Given the description of an element on the screen output the (x, y) to click on. 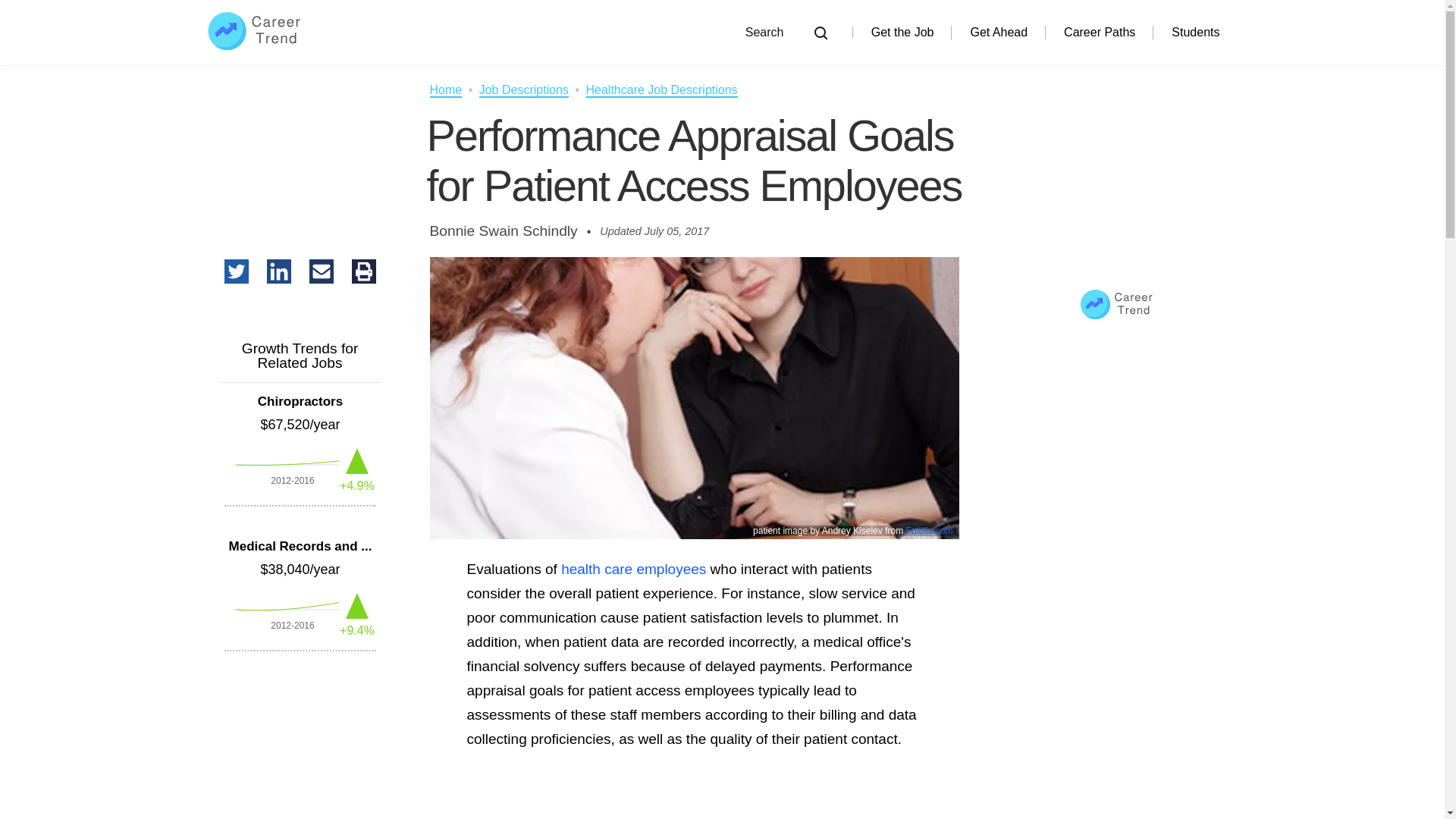
Get the Job (902, 31)
Career Paths (1099, 31)
Students (1196, 31)
Advertisement (693, 809)
Get Ahead (998, 31)
